Given the description of an element on the screen output the (x, y) to click on. 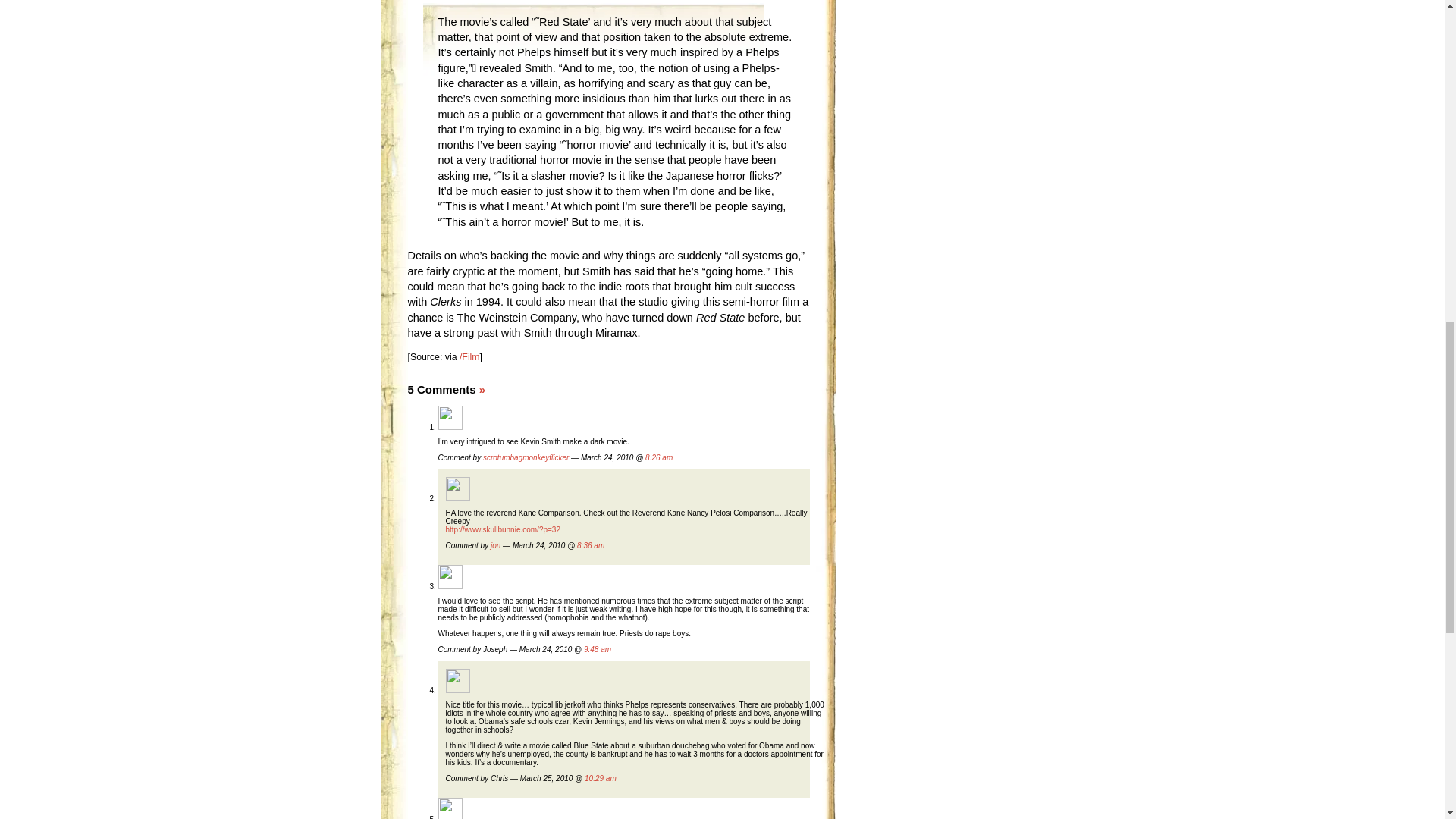
scrotumbagmonkeyflicker (526, 457)
10:29 am (600, 777)
8:26 am (658, 457)
9:48 am (597, 649)
jon (495, 545)
8:36 am (590, 545)
